Given the description of an element on the screen output the (x, y) to click on. 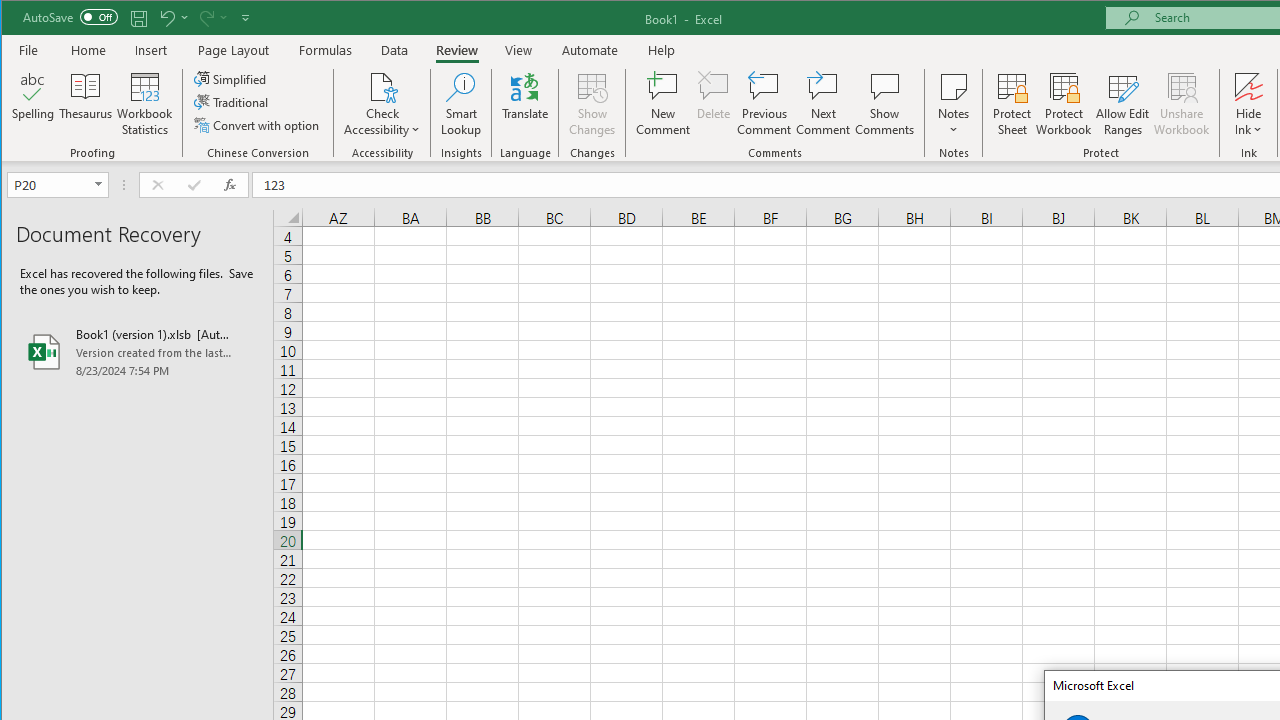
Hide Ink (1248, 86)
Notes (954, 104)
Protect Sheet... (1012, 104)
Unshare Workbook (1182, 104)
Check Accessibility (381, 86)
Show Changes (592, 104)
Previous Comment (763, 104)
